Given the description of an element on the screen output the (x, y) to click on. 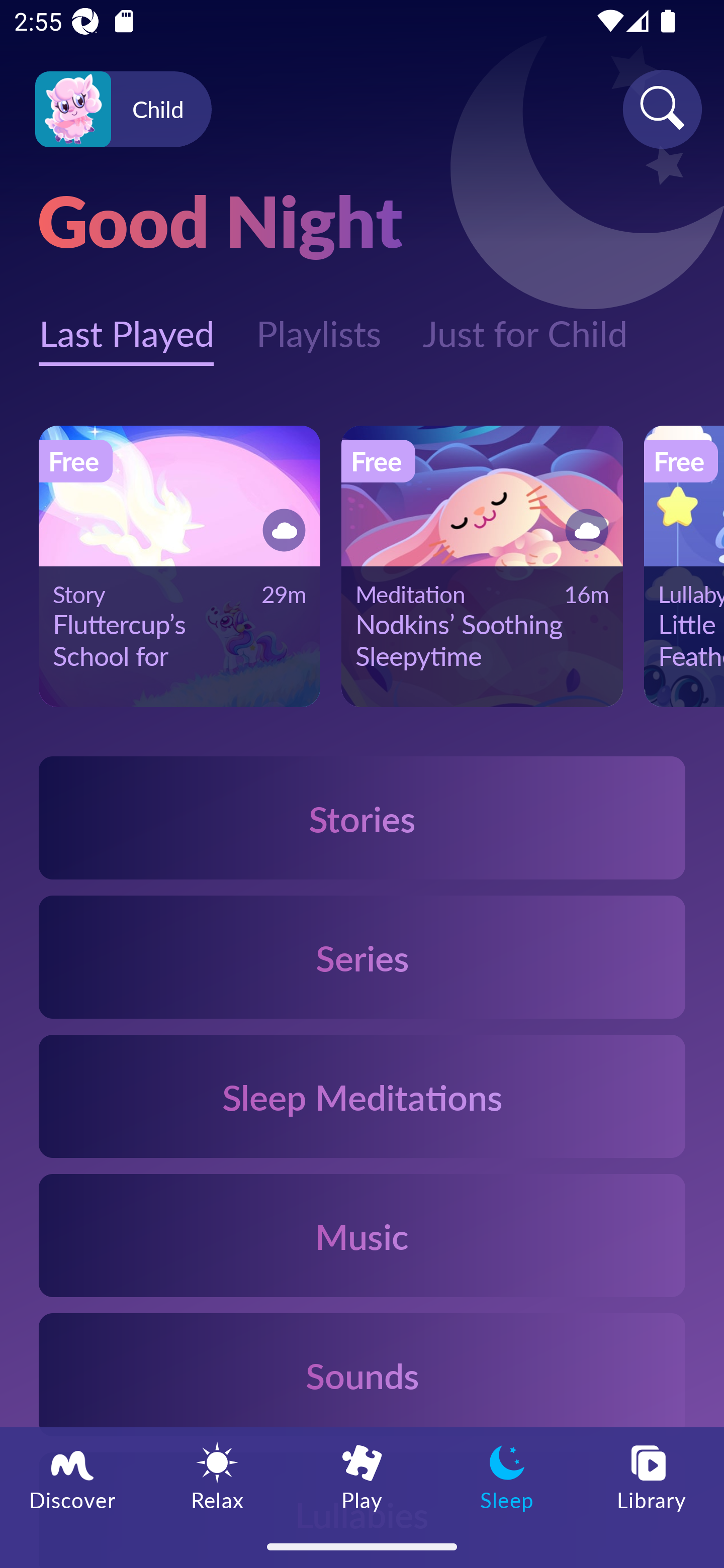
Profile icon Child (123, 109)
Playlists (317, 322)
Just for Child (524, 322)
Button (280, 529)
Button (583, 529)
Stories (361, 817)
Series (361, 957)
Sleep Meditations (361, 1096)
Music (361, 1234)
Sounds (361, 1374)
Discover (72, 1475)
Relax (216, 1475)
Play (361, 1475)
Library (651, 1475)
